Given the description of an element on the screen output the (x, y) to click on. 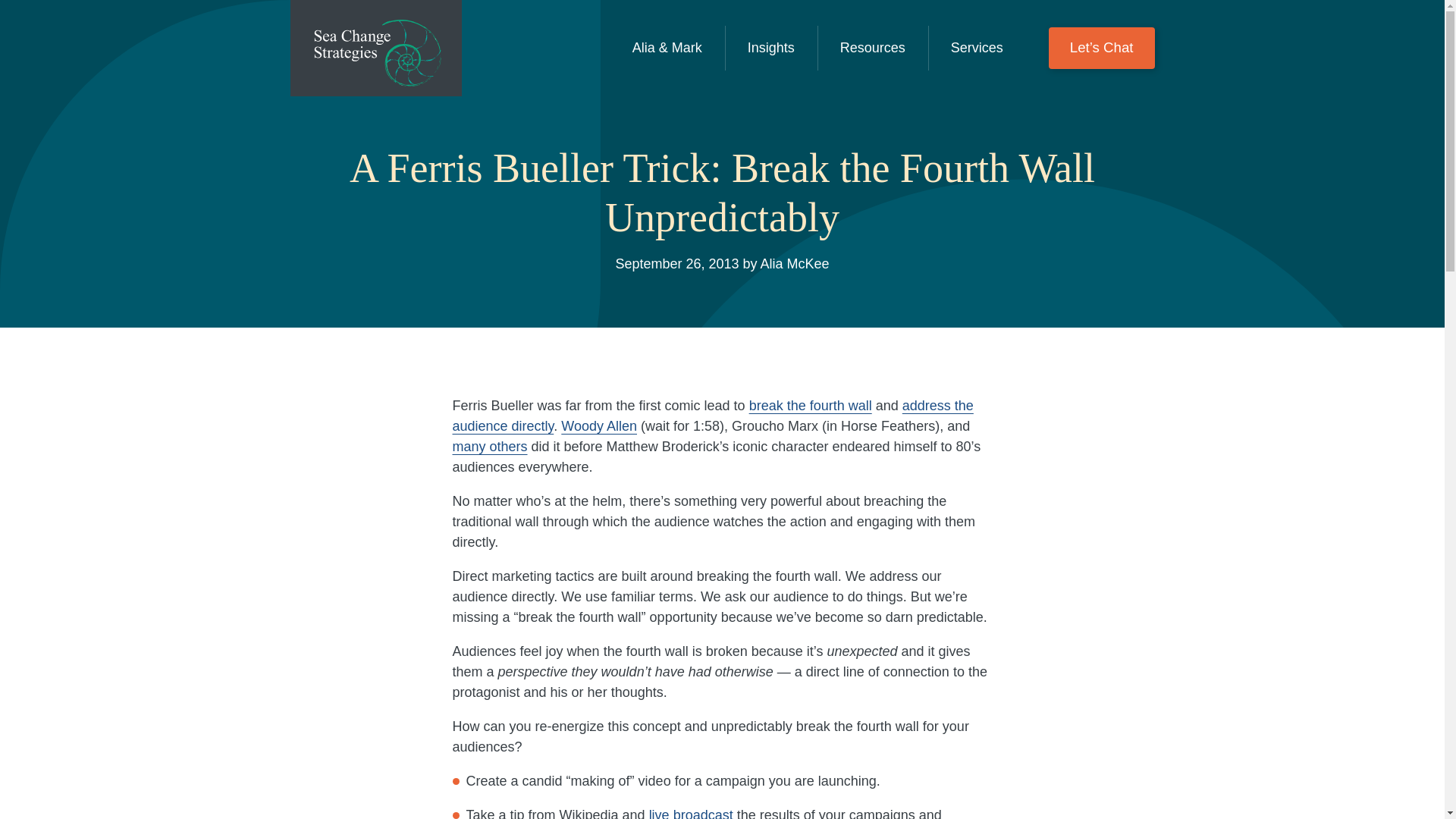
Woody Allen (598, 426)
Resources (872, 48)
Insights (771, 48)
address the audience directly (711, 416)
many others (489, 446)
Services (976, 48)
live broadcast (691, 813)
break the fourth wall (810, 405)
